Given the description of an element on the screen output the (x, y) to click on. 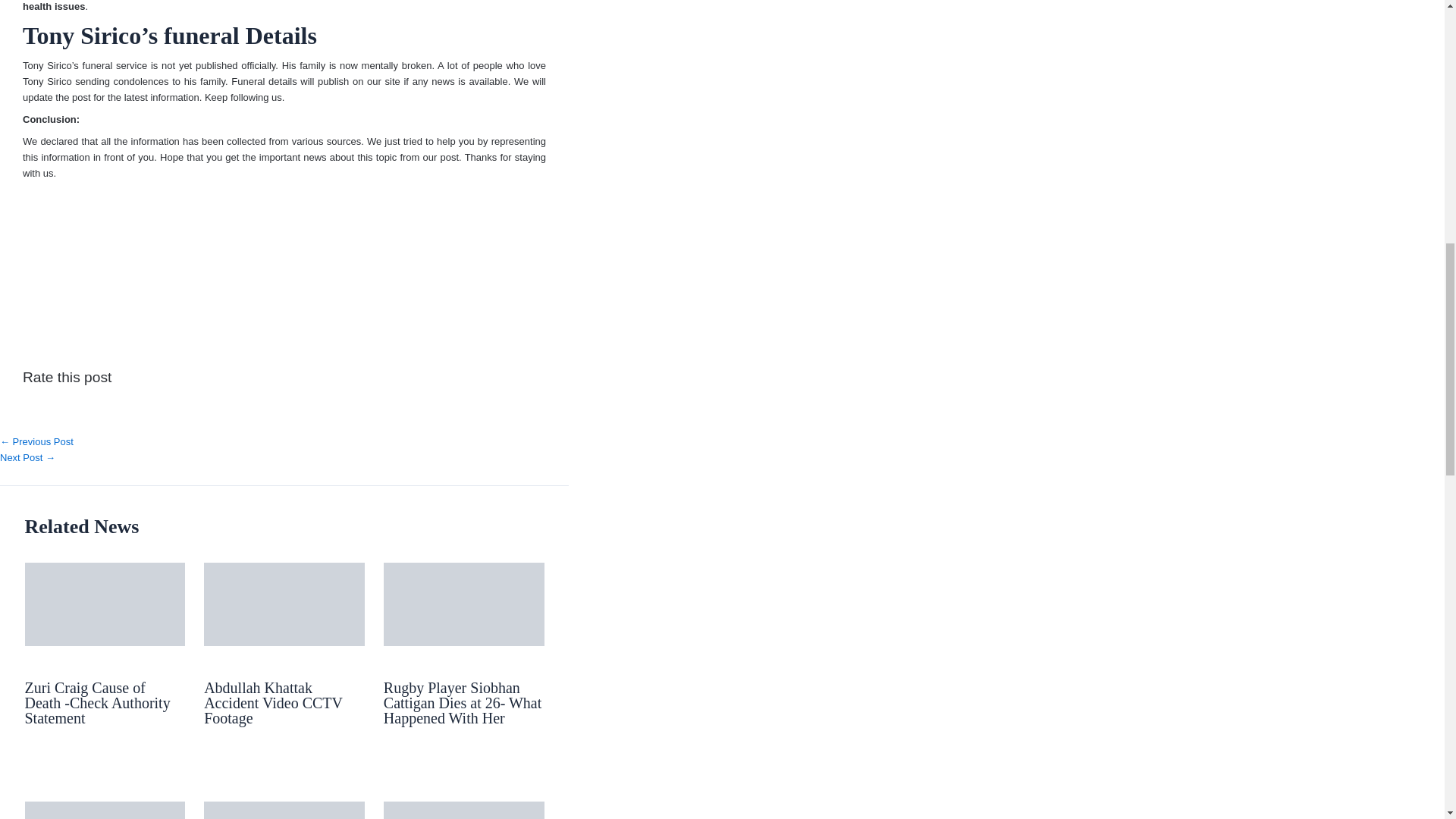
Abdullah Khattak Accident Video CCTV Footage (272, 702)
Jaron Baker Motorcycle Accident Video :CCTV Footage (37, 441)
Zuri Craig Cause of Death -Check Authority Statement (97, 702)
Nolan Neal Funeral Details :Authority Confirmed (27, 457)
